Given the description of an element on the screen output the (x, y) to click on. 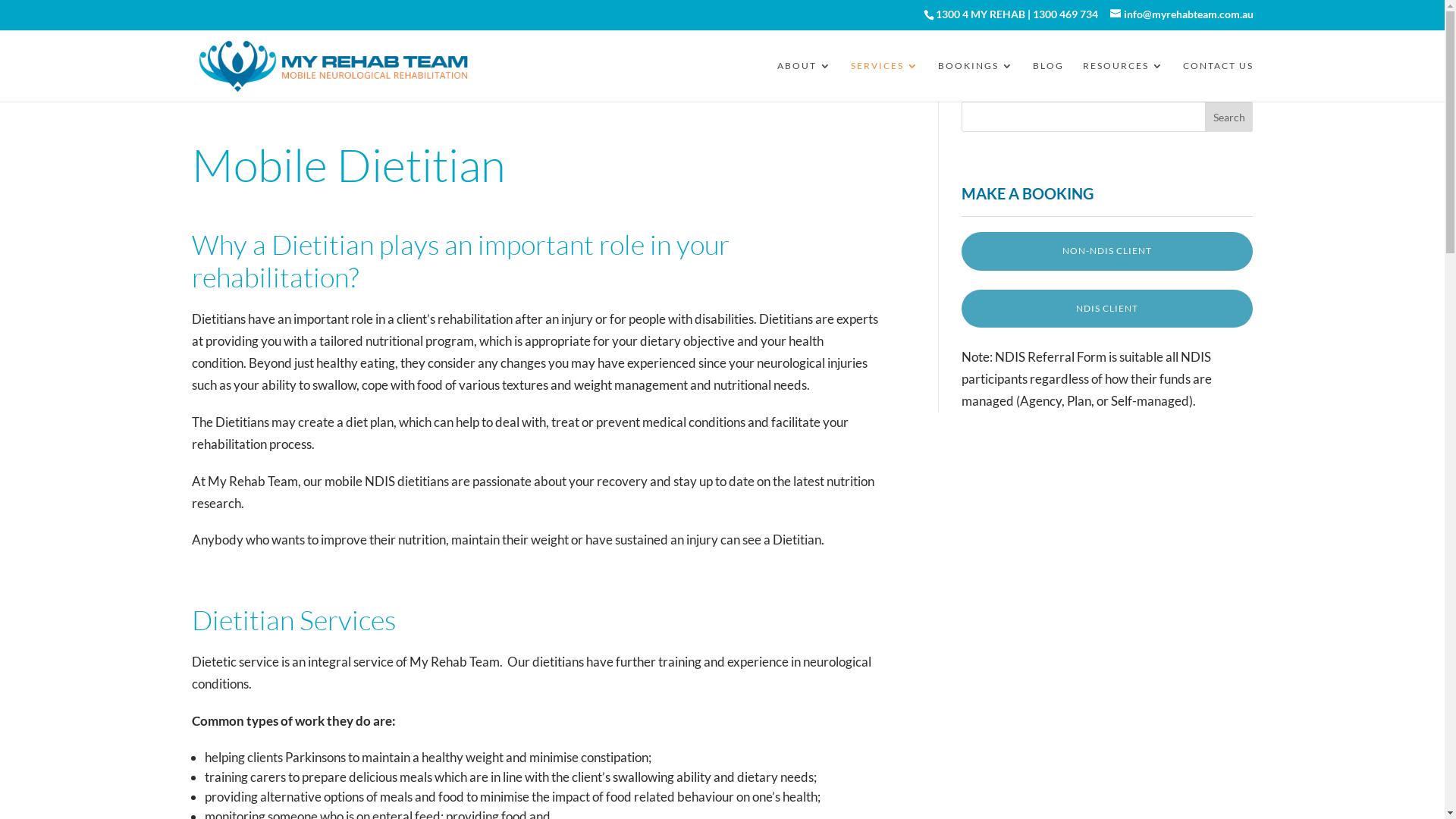
BLOG Element type: text (1047, 80)
ABOUT Element type: text (803, 80)
1300 4 MY REHAB Element type: text (980, 13)
CONTACT US Element type: text (1218, 80)
Search Element type: text (1228, 116)
BOOKINGS Element type: text (975, 80)
1300 469 734 Element type: text (1065, 13)
SERVICES Element type: text (884, 80)
NDIS CLIENT Element type: text (1106, 308)
NON-NDIS CLIENT Element type: text (1106, 250)
info@myrehabteam.com.au Element type: text (1181, 13)
RESOURCES Element type: text (1123, 80)
